Given the description of an element on the screen output the (x, y) to click on. 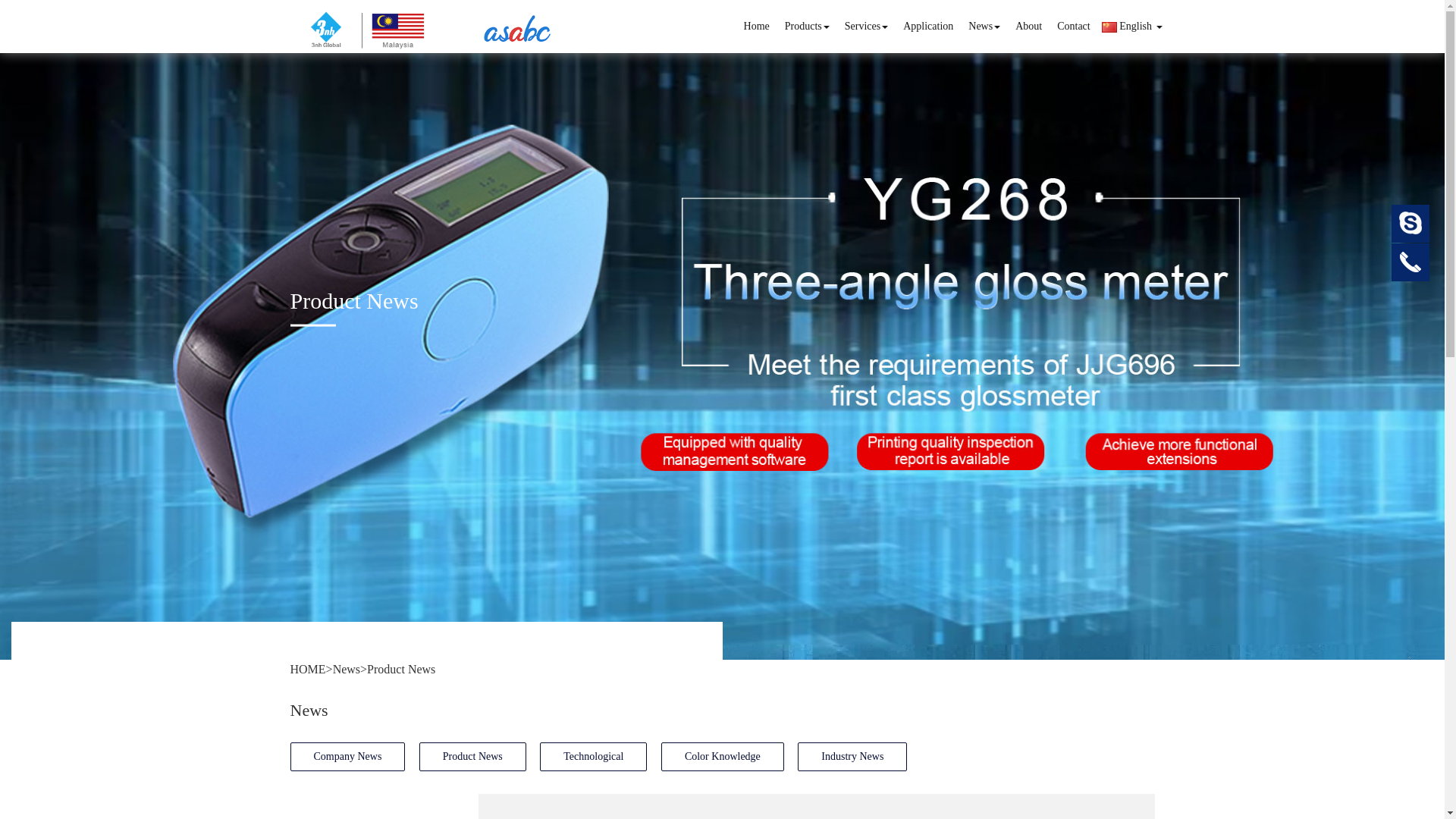
Services Element type: text (866, 26)
Industry News Element type: text (851, 756)
Product News Element type: text (401, 668)
News Element type: text (346, 668)
Contact Element type: text (1073, 26)
Technological Element type: text (592, 756)
Company News Element type: text (346, 756)
Product News Element type: text (472, 756)
About Element type: text (1028, 26)
HOME Element type: text (307, 668)
Application Element type: text (927, 26)
Instrument Web Directory | Asabc Element type: hover (517, 26)
Home Element type: text (756, 26)
English Element type: text (1132, 26)
Products Element type: text (807, 26)
Color Knowledge Element type: text (722, 756)
News Element type: text (983, 26)
